Given the description of an element on the screen output the (x, y) to click on. 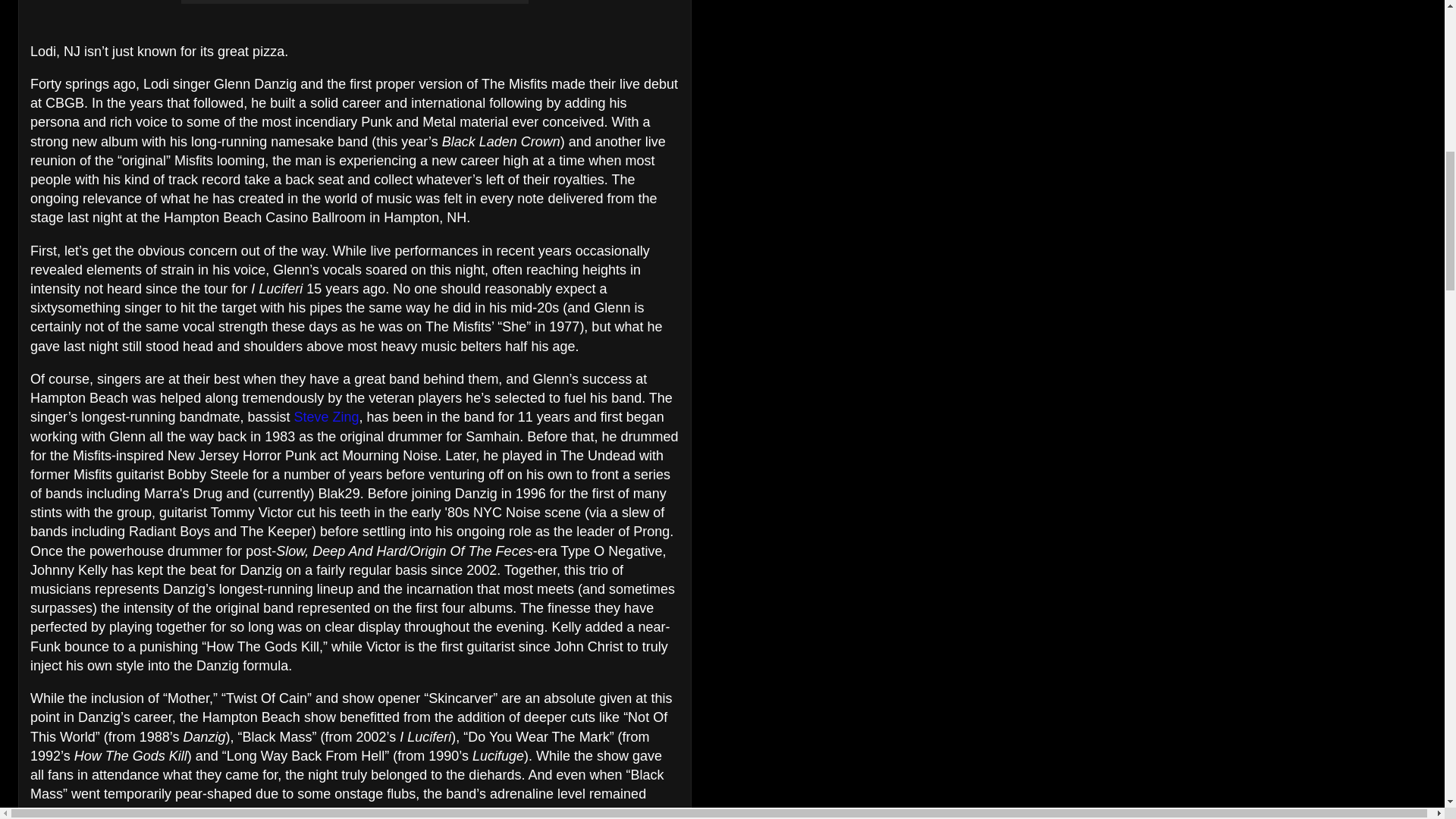
Steve Zing (326, 417)
